Given the description of an element on the screen output the (x, y) to click on. 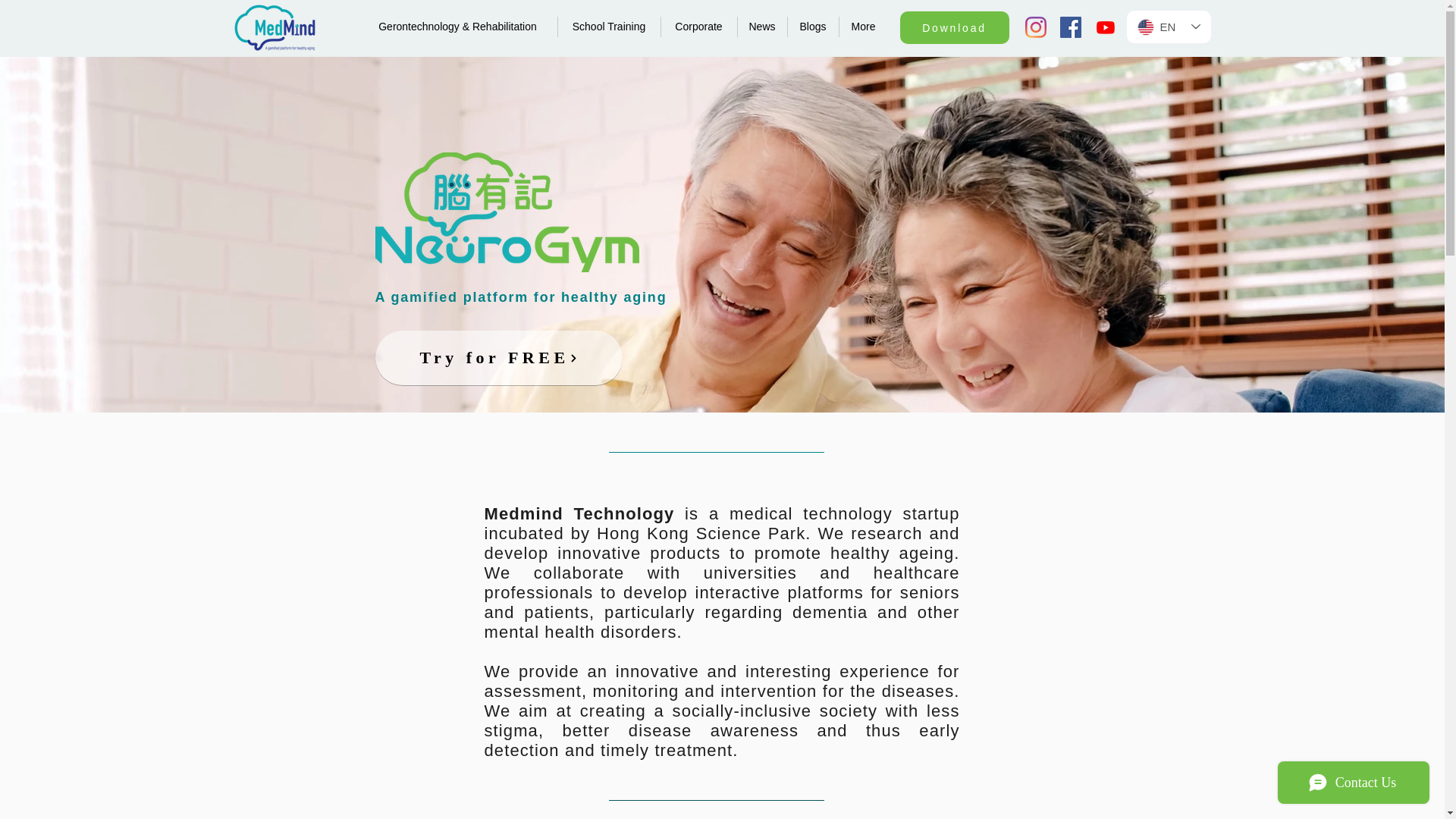
Corporate (698, 26)
News (761, 26)
Download (954, 27)
Blogs (812, 26)
School Training (609, 26)
Try for FREE (497, 357)
